Given the description of an element on the screen output the (x, y) to click on. 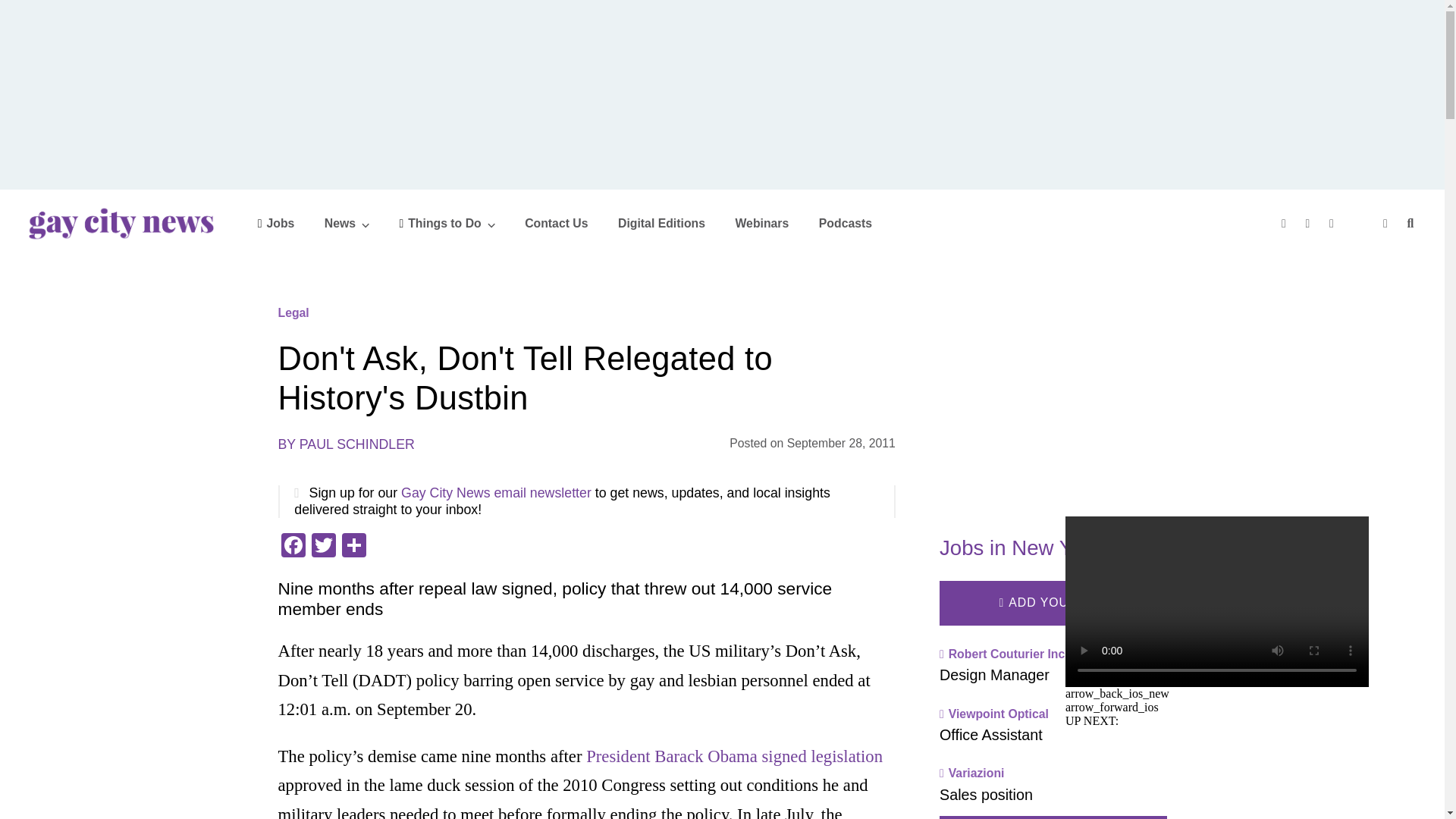
News (346, 223)
Digital Editions (660, 223)
Webinars (762, 223)
Contact Us (556, 223)
Podcasts (845, 223)
Twitter (322, 547)
Facebook (292, 547)
Jobs (276, 223)
Things to Do (446, 223)
